Given the description of an element on the screen output the (x, y) to click on. 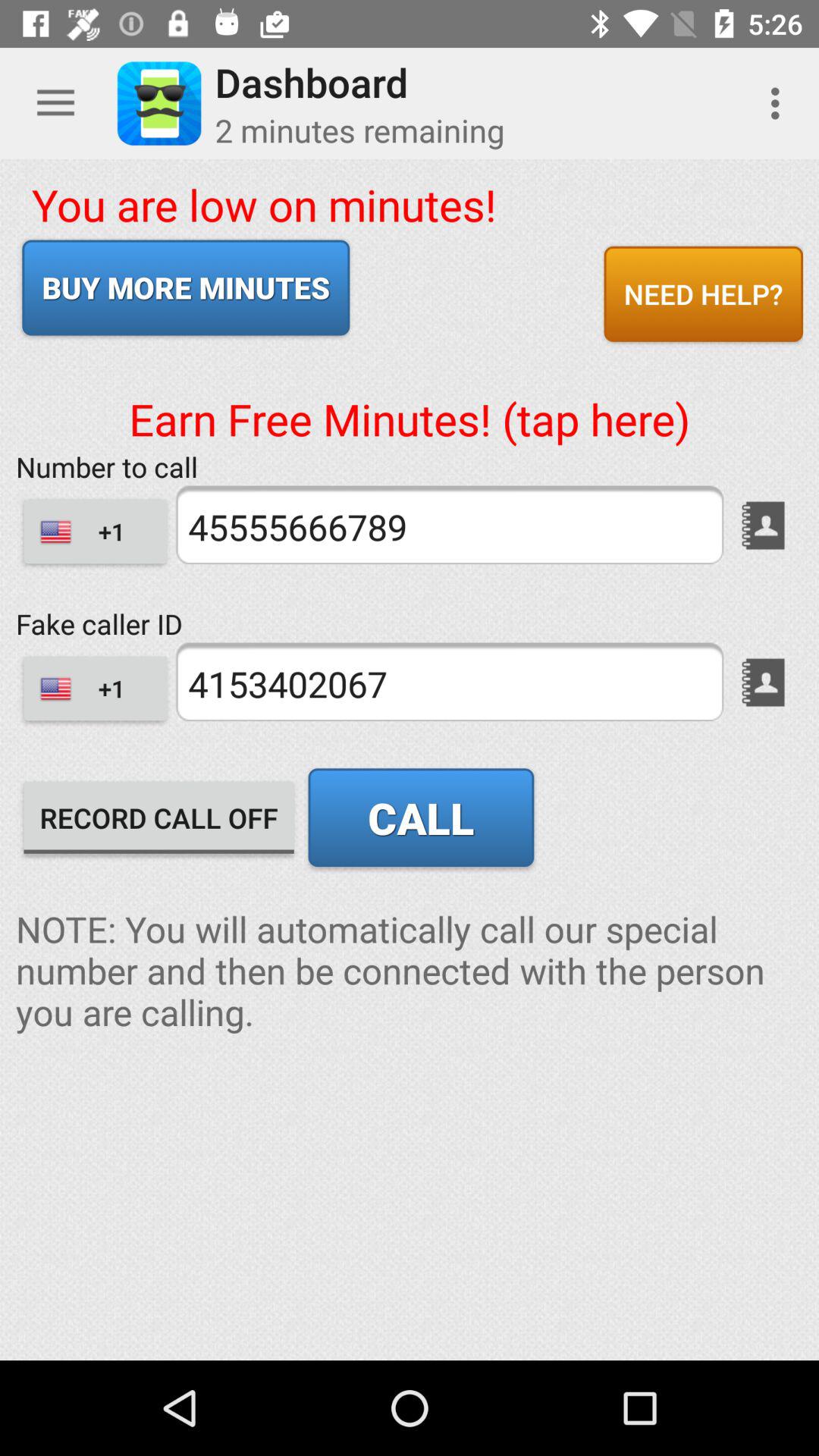
press the icon above note you will item (158, 817)
